Given the description of an element on the screen output the (x, y) to click on. 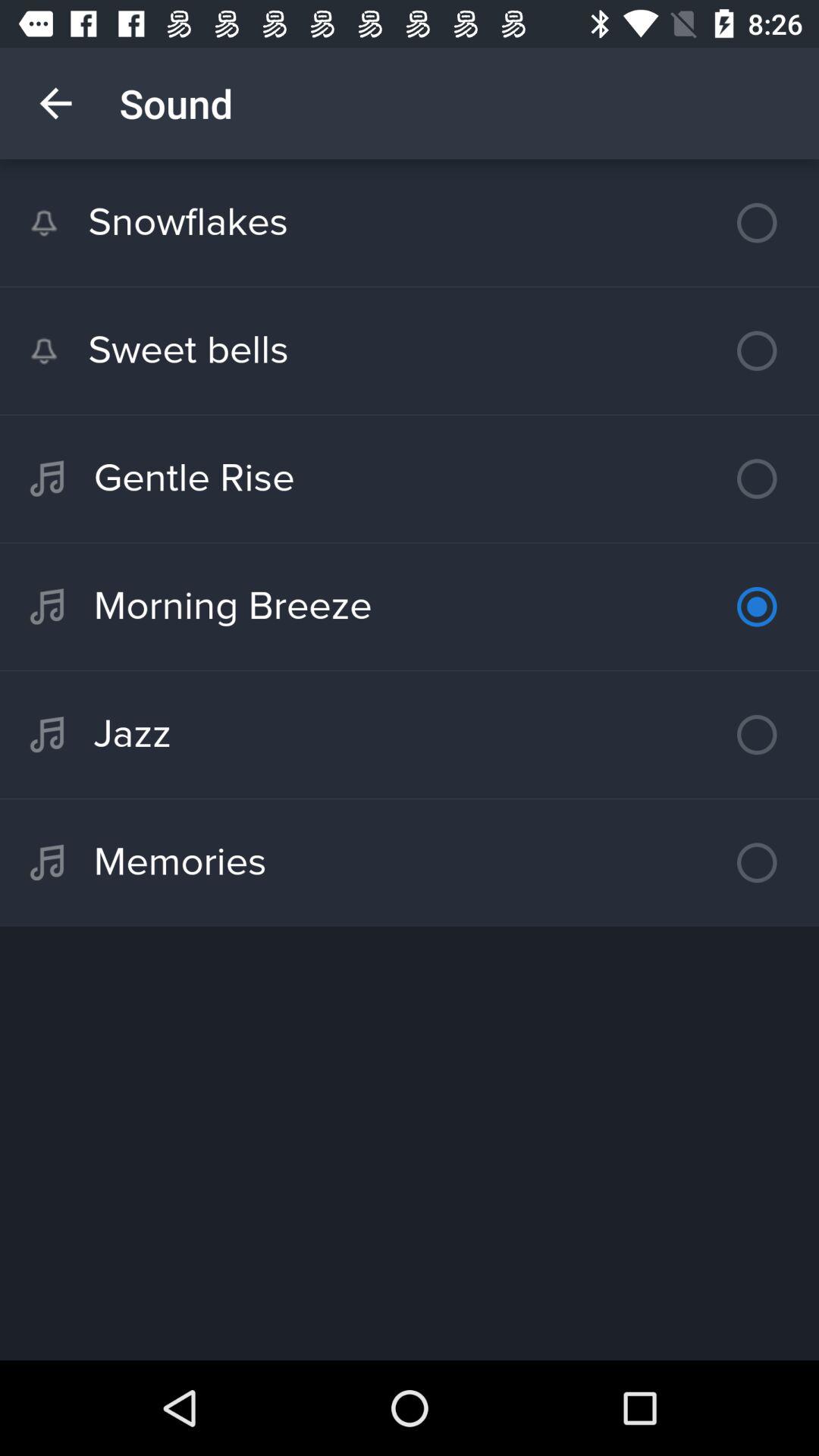
turn off sweet bells icon (409, 350)
